Given the description of an element on the screen output the (x, y) to click on. 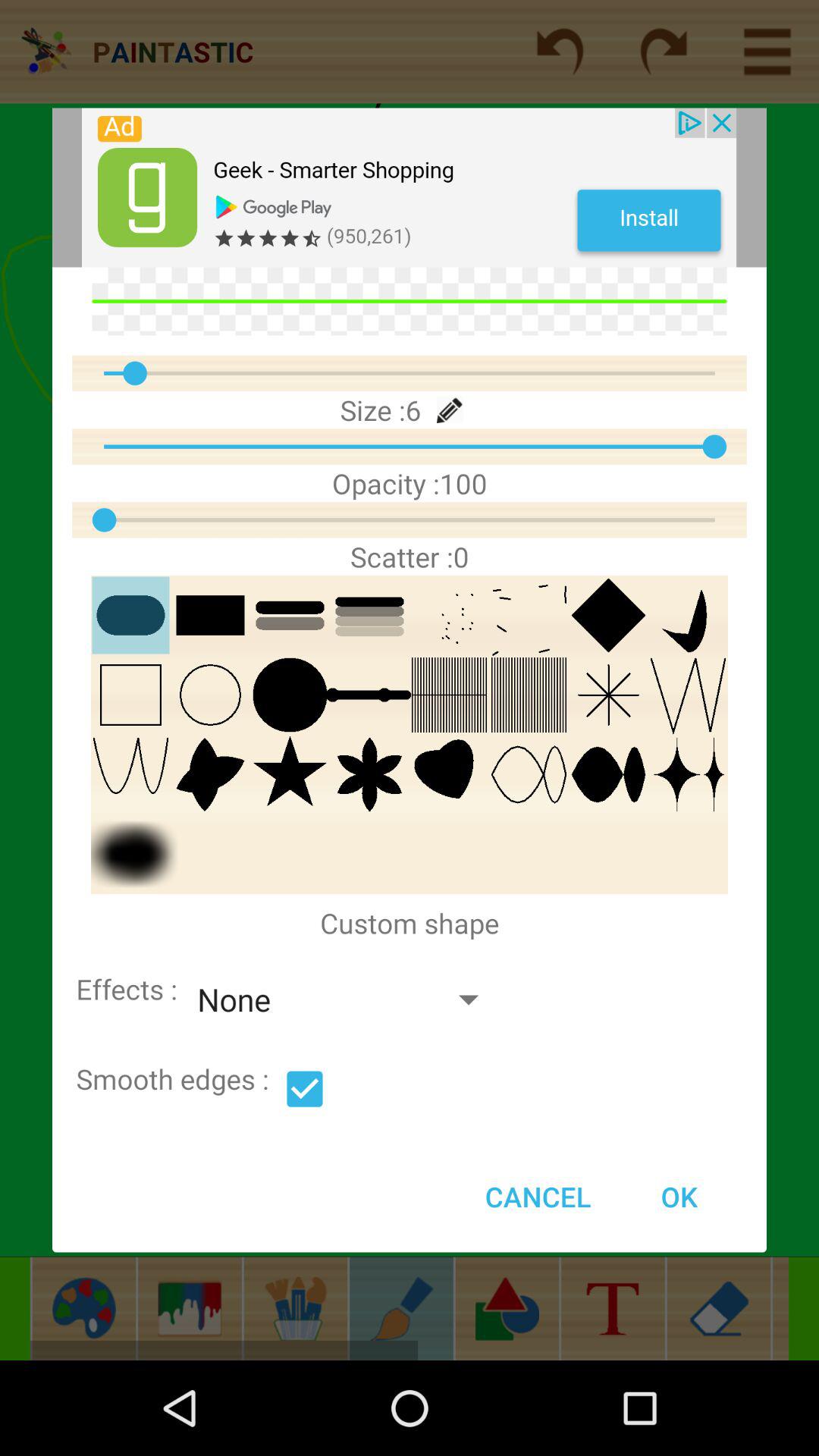
select botton (304, 1089)
